Given the description of an element on the screen output the (x, y) to click on. 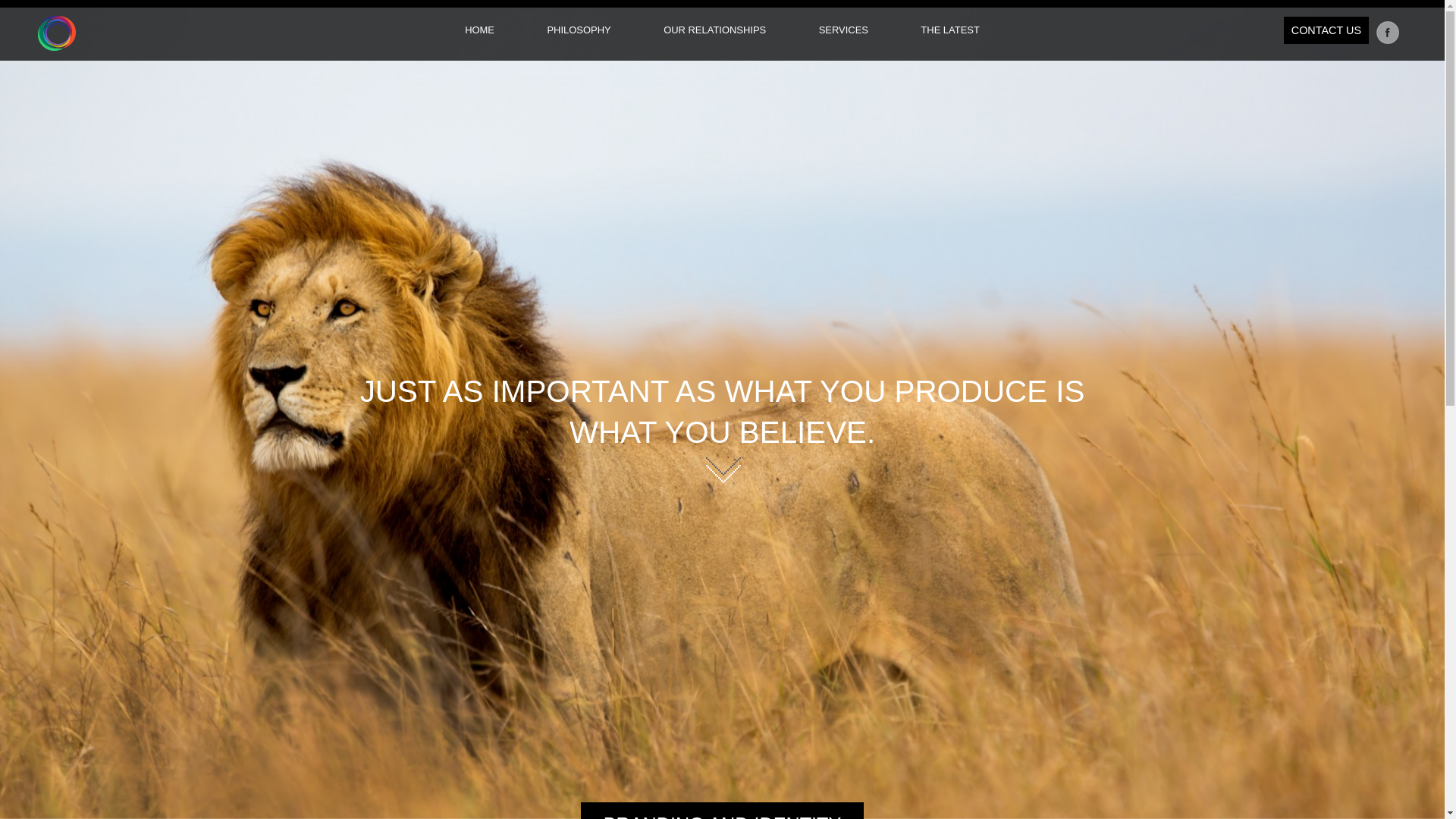
THE LATEST (950, 30)
OUR RELATIONSHIPS (714, 30)
PHILOSOPHY (579, 30)
CONTACT US (1326, 30)
HOME (478, 30)
SERVICES (843, 30)
